Given the description of an element on the screen output the (x, y) to click on. 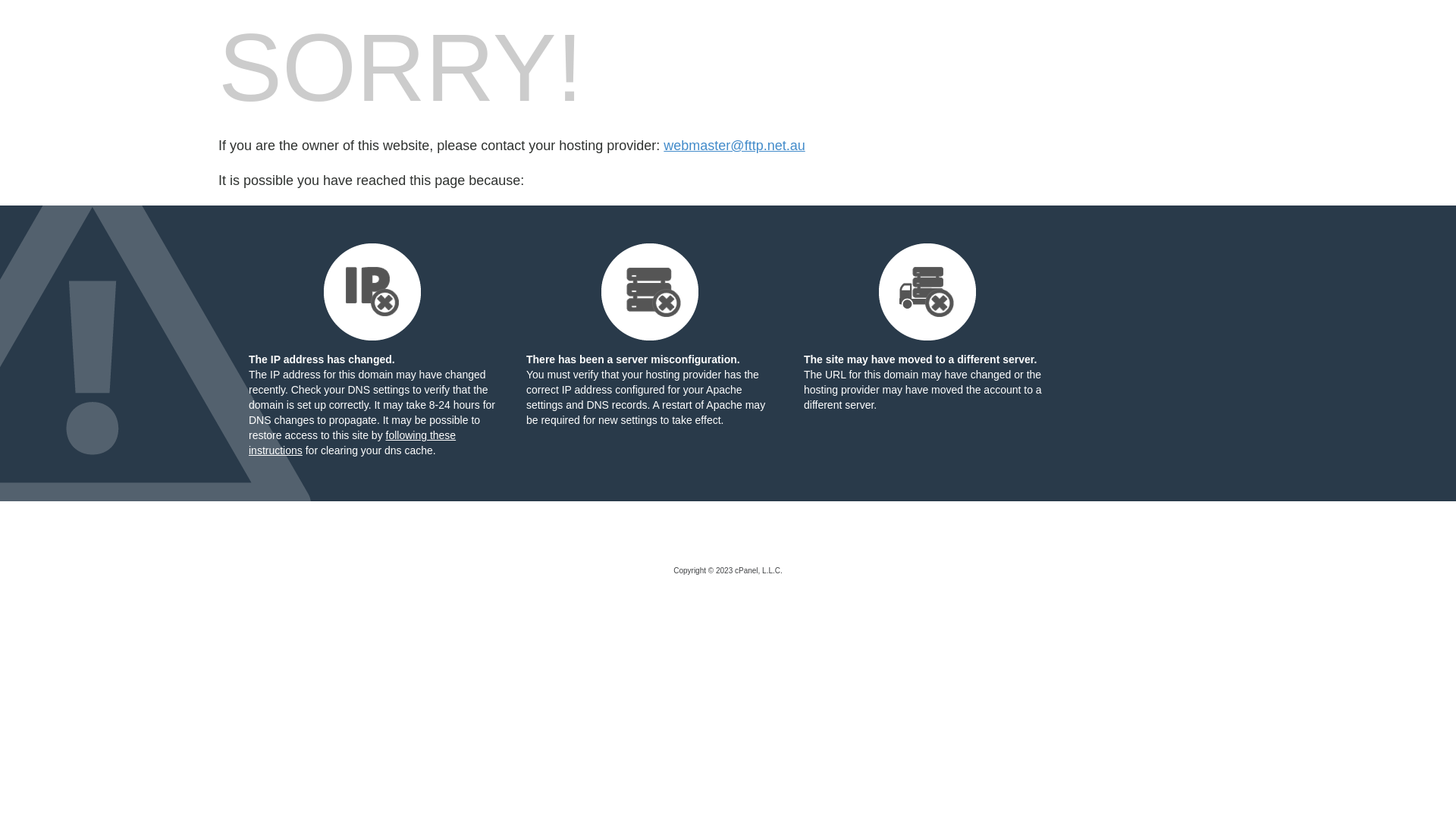
webmaster@fttp.net.au Element type: text (733, 145)
following these instructions Element type: text (351, 442)
